Given the description of an element on the screen output the (x, y) to click on. 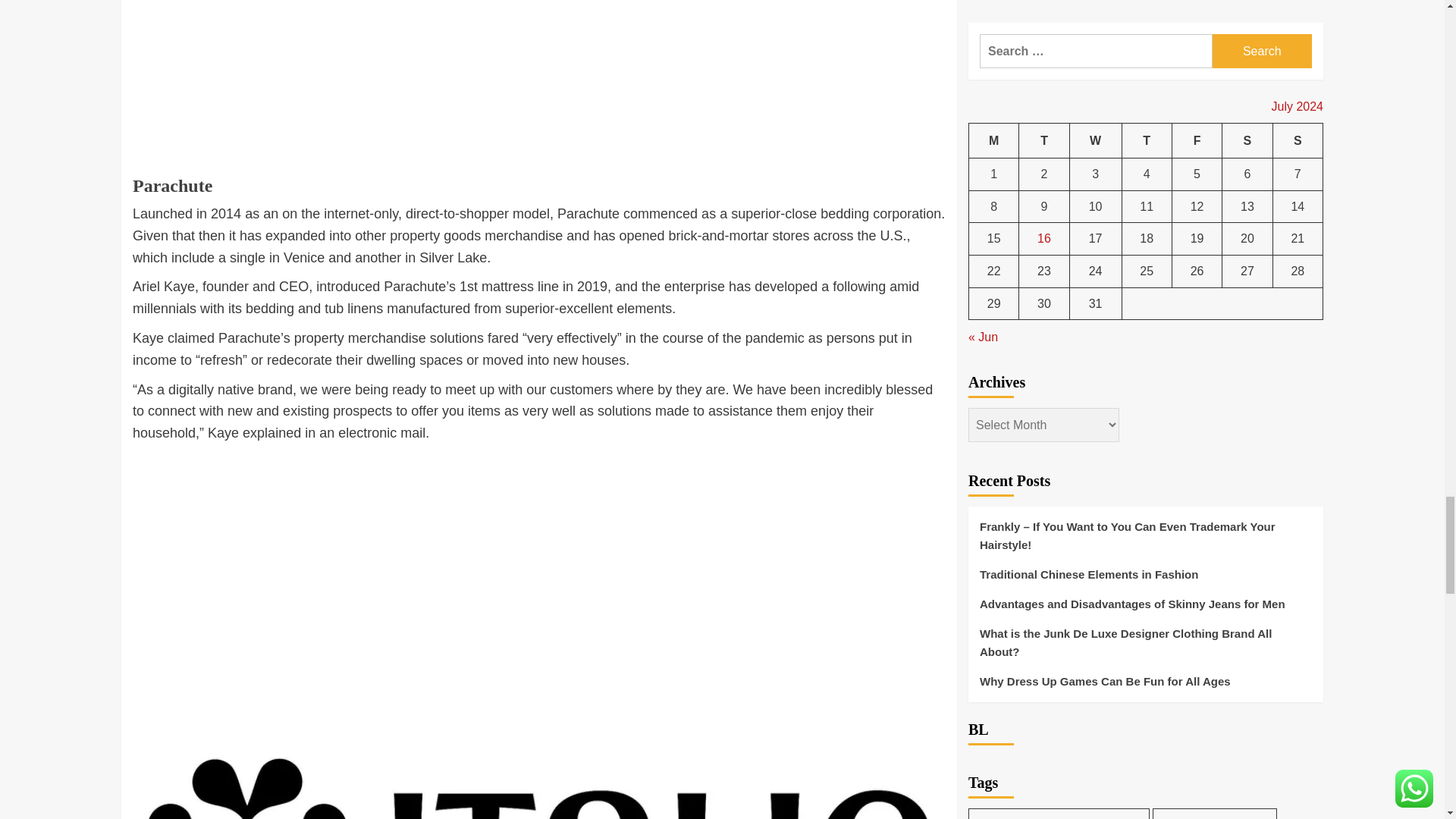
Parachute (172, 195)
